Given the description of an element on the screen output the (x, y) to click on. 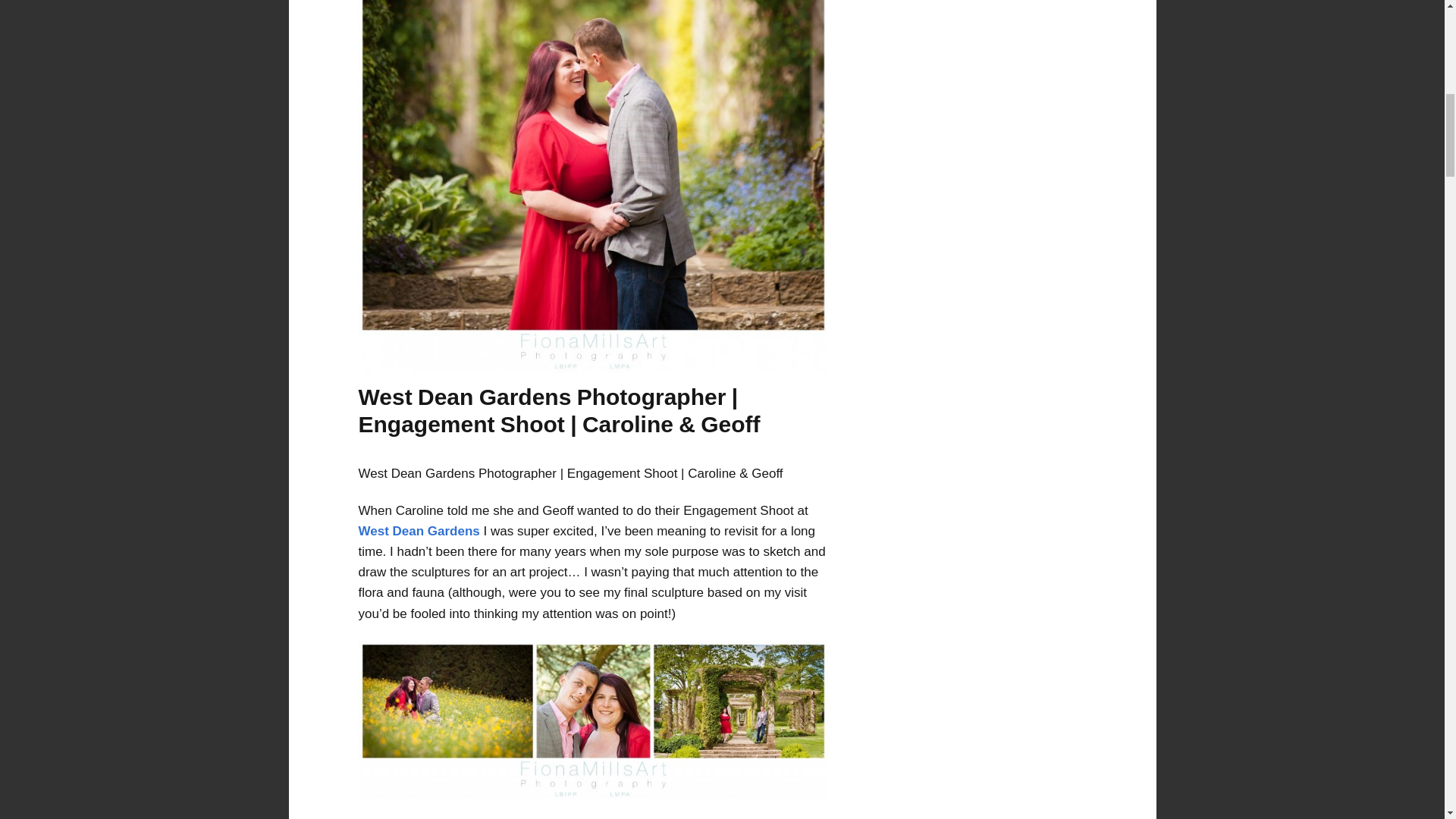
West Dean Gardens (418, 531)
